Given the description of an element on the screen output the (x, y) to click on. 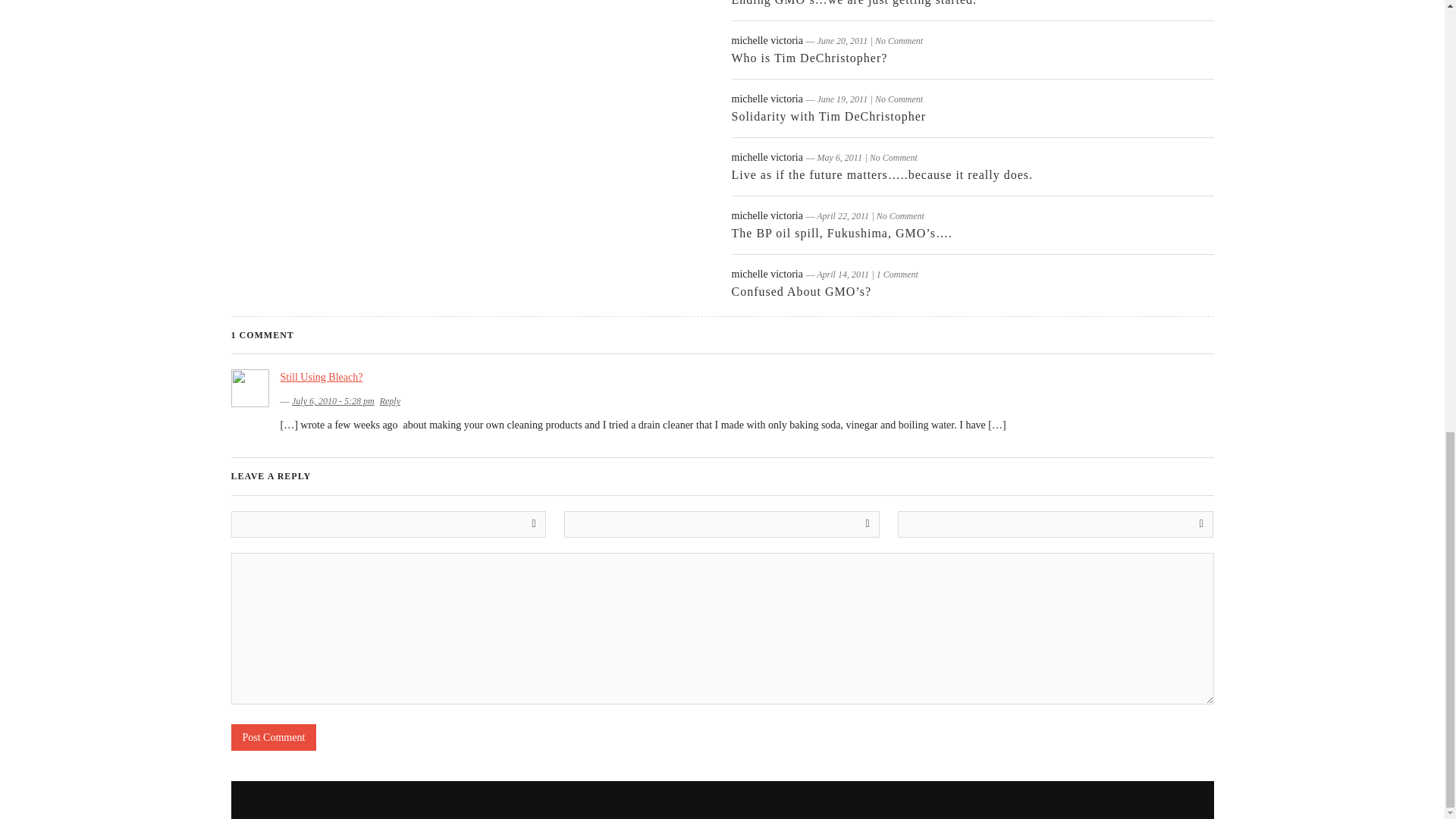
Solidarity with Tim DeChristopher (828, 115)
Who is Tim DeChristopher? (808, 57)
Solidarity with Tim DeChristopher (828, 115)
July 6, 2010 - 5:28 pm (333, 400)
Who is Tim DeChristopher? (808, 57)
No Comment (899, 99)
No Comment (899, 40)
Reply (390, 400)
Post Comment (272, 737)
Still Using Bleach? (321, 377)
No Comment (893, 157)
1 Comment (897, 274)
No Comment (900, 215)
